Given the description of an element on the screen output the (x, y) to click on. 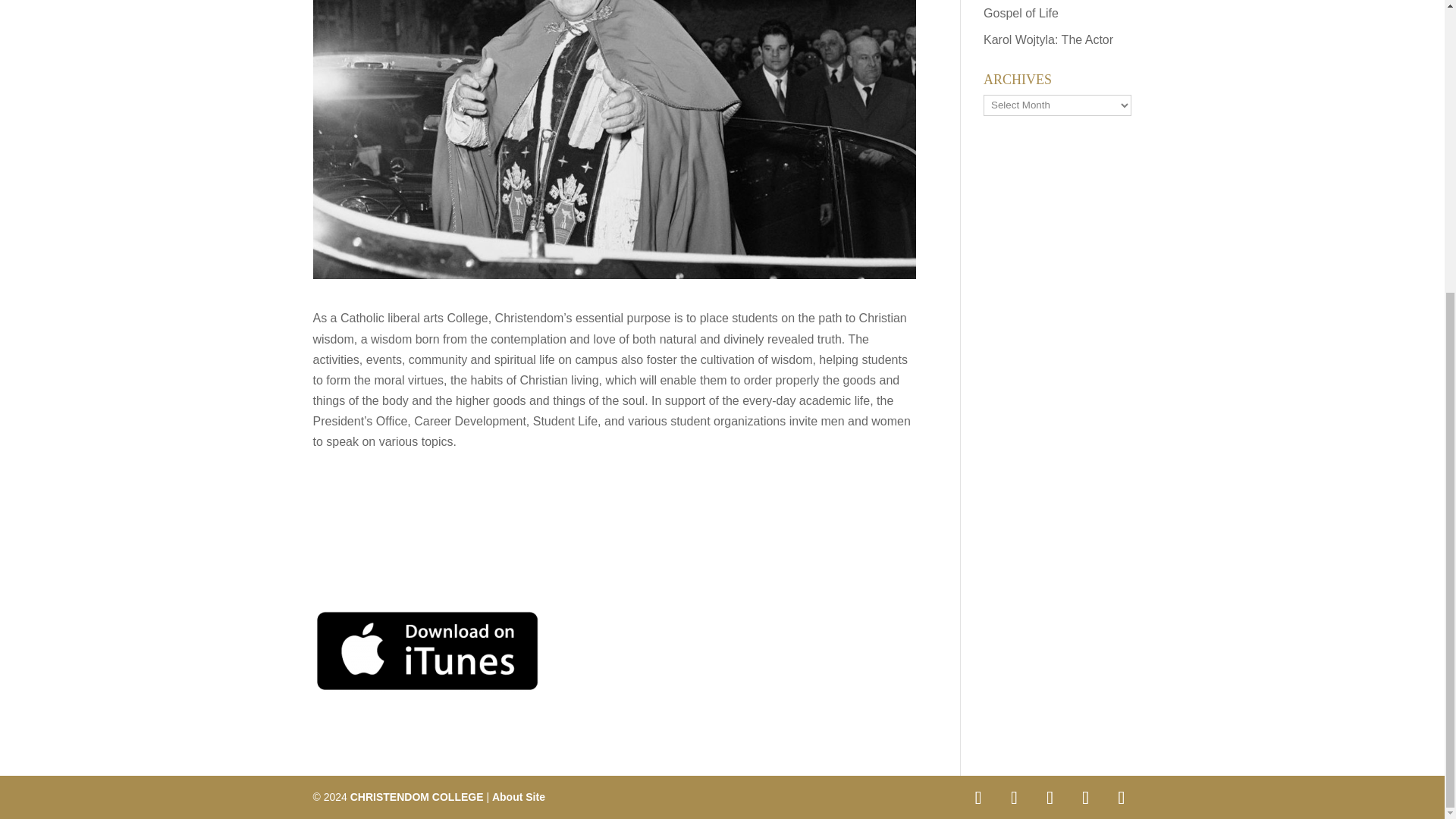
Pope Saint John Paul II and the Legacy of the Gospel of Life (1046, 9)
Karol Wojtyla: The Actor (1048, 39)
About Site (518, 797)
CHRISTENDOM COLLEGE (416, 797)
